Given the description of an element on the screen output the (x, y) to click on. 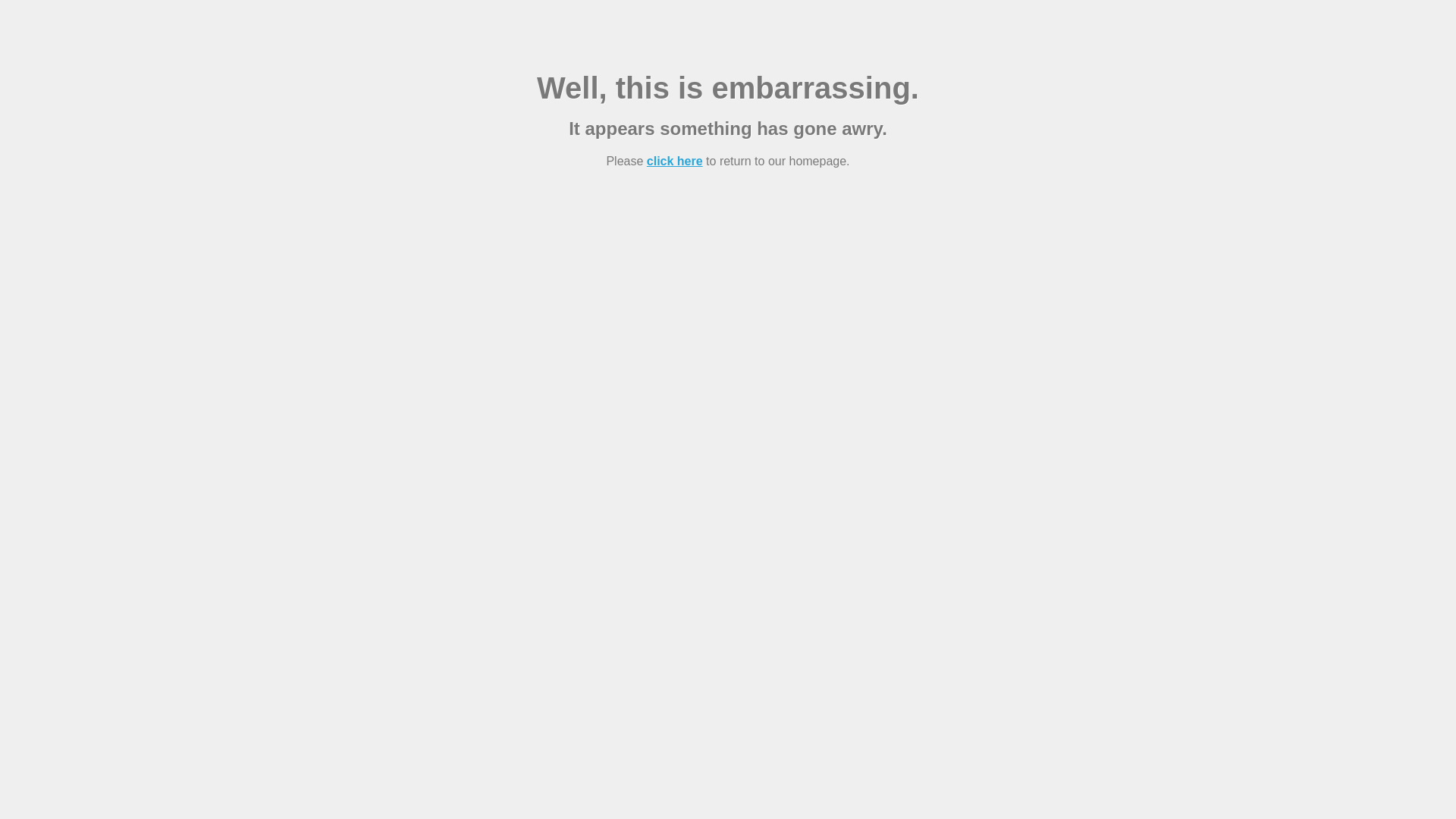
click here Element type: text (674, 160)
